Given the description of an element on the screen output the (x, y) to click on. 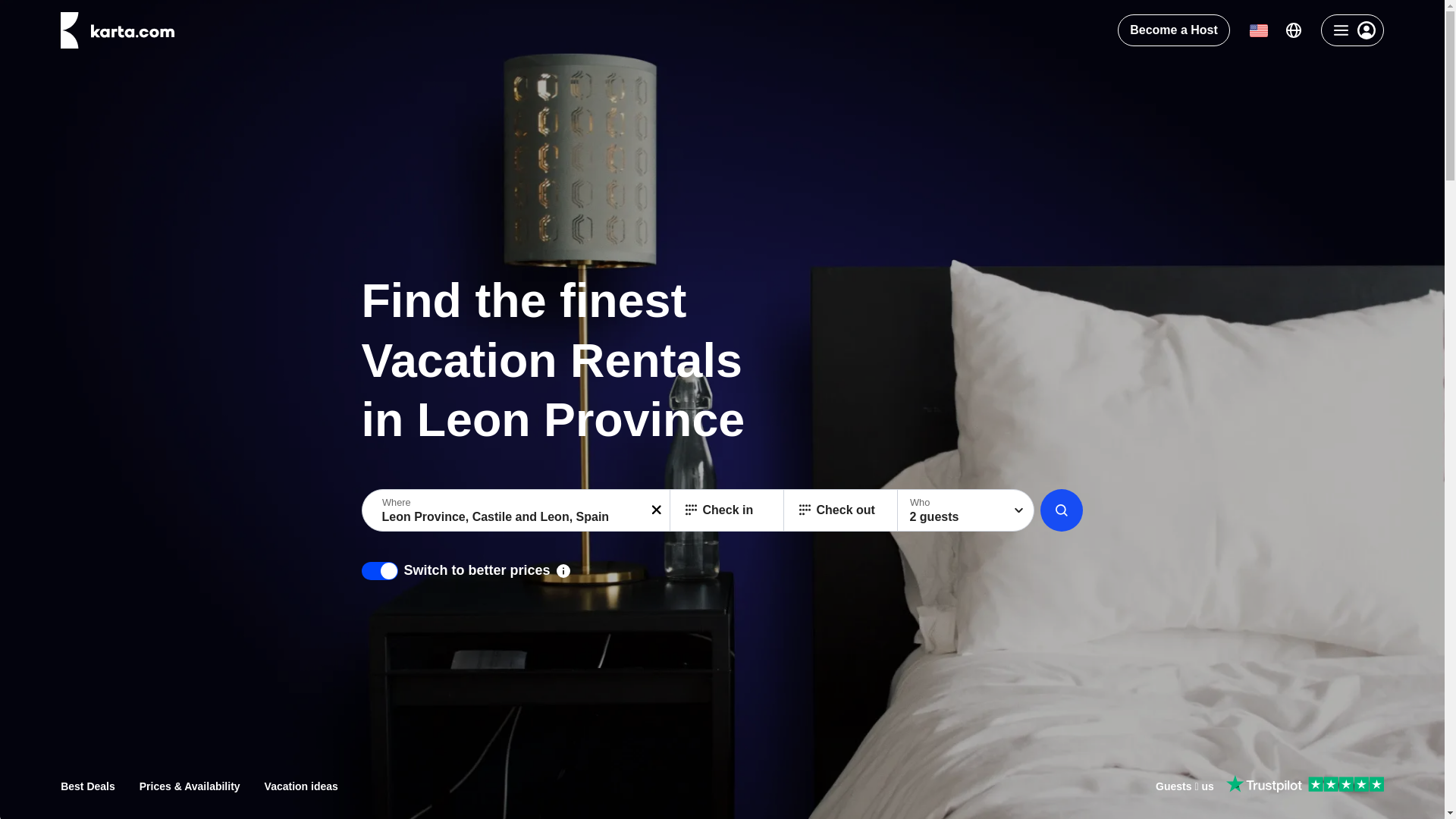
2 guests (966, 509)
Best Deals (88, 785)
Vacation ideas (300, 785)
Leon Province, Castile and Leon, Spain (516, 509)
2 guests (966, 509)
Leon Province, Castile and Leon, Spain (516, 509)
Become a Host (1174, 29)
